Given the description of an element on the screen output the (x, y) to click on. 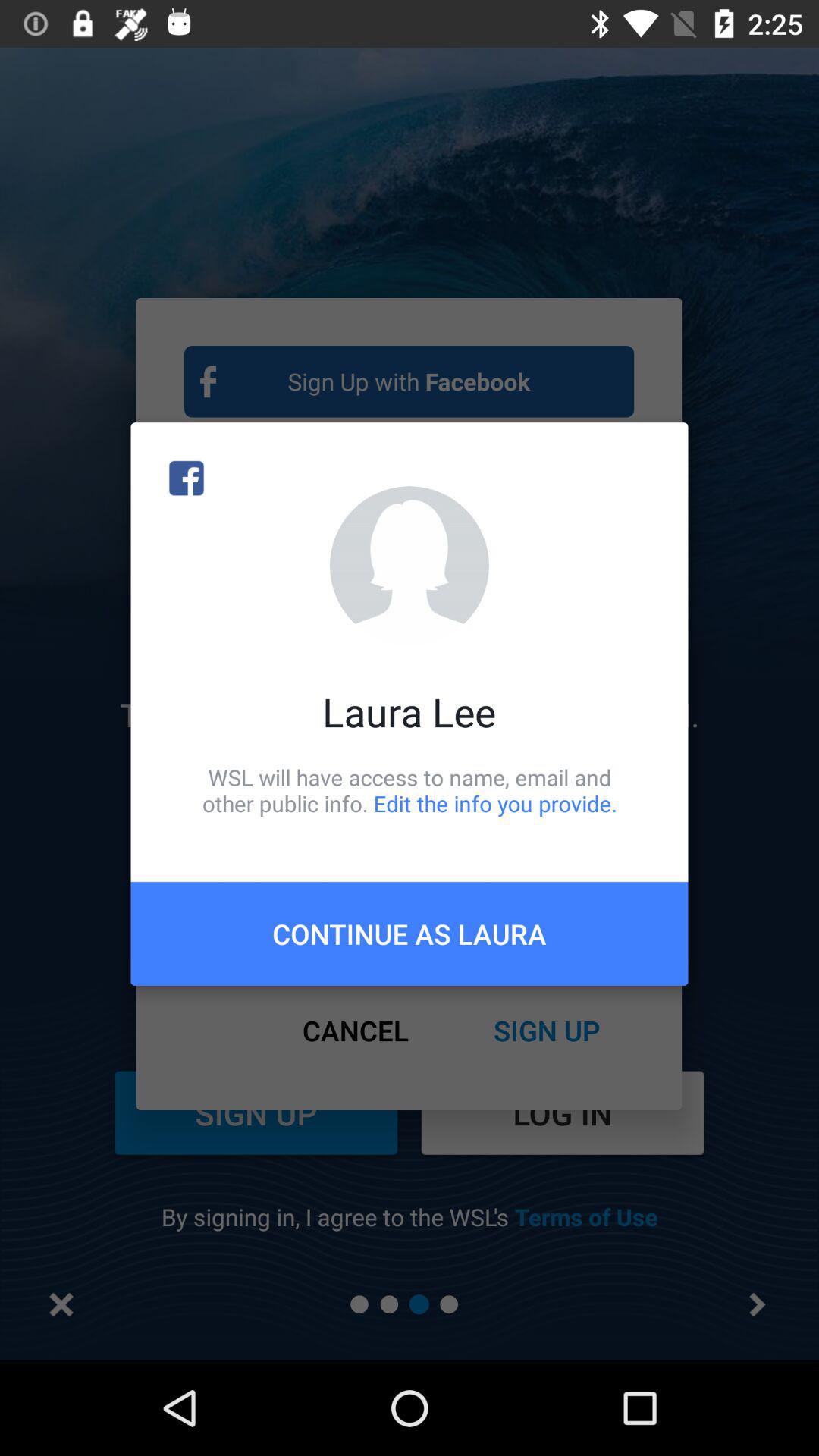
choose the continue as laura (409, 933)
